Given the description of an element on the screen output the (x, y) to click on. 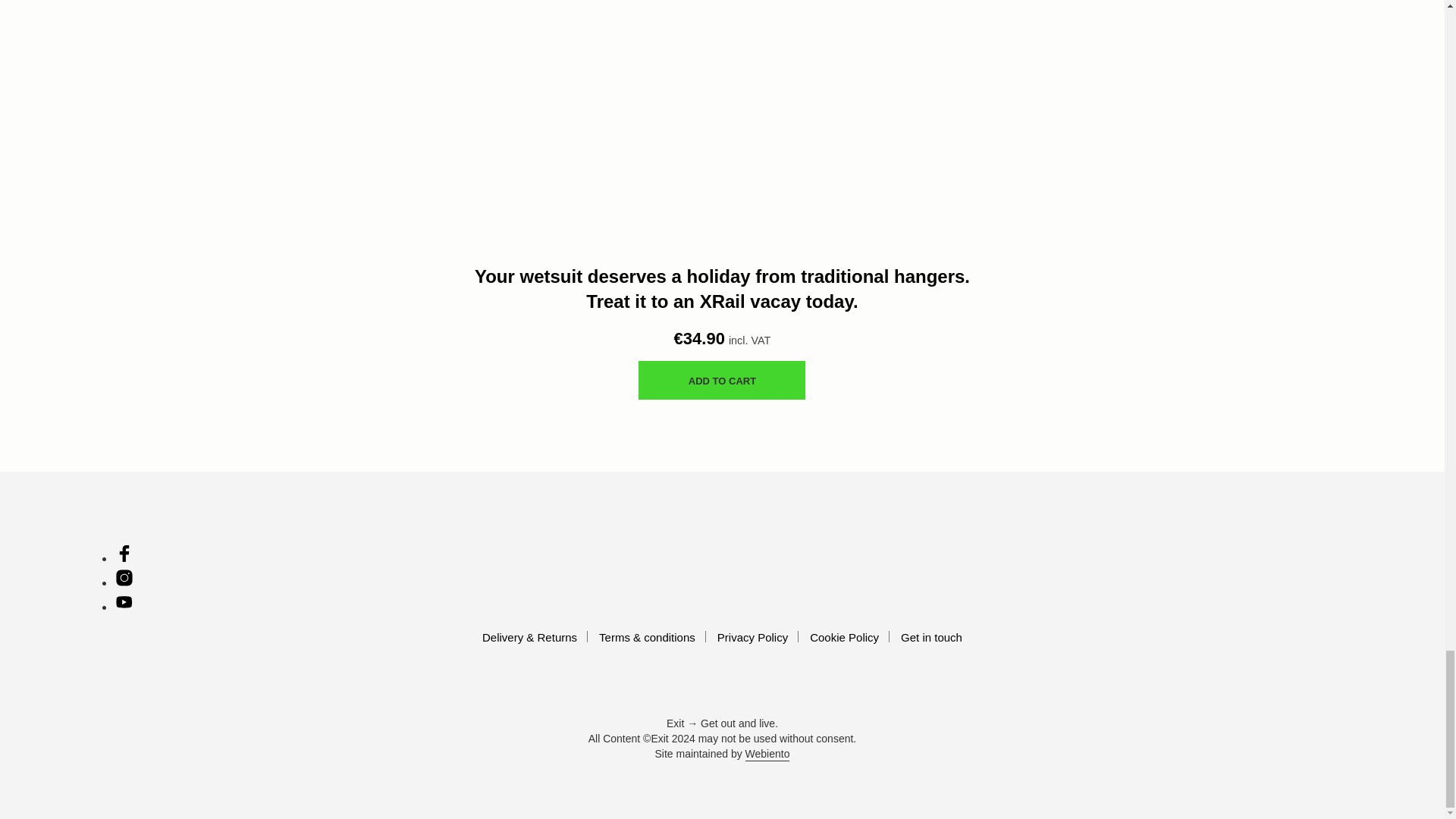
Privacy Policy (752, 636)
Webiento (767, 754)
Cookie Policy (844, 636)
Get in touch (931, 636)
ADD TO CART (722, 380)
